Given the description of an element on the screen output the (x, y) to click on. 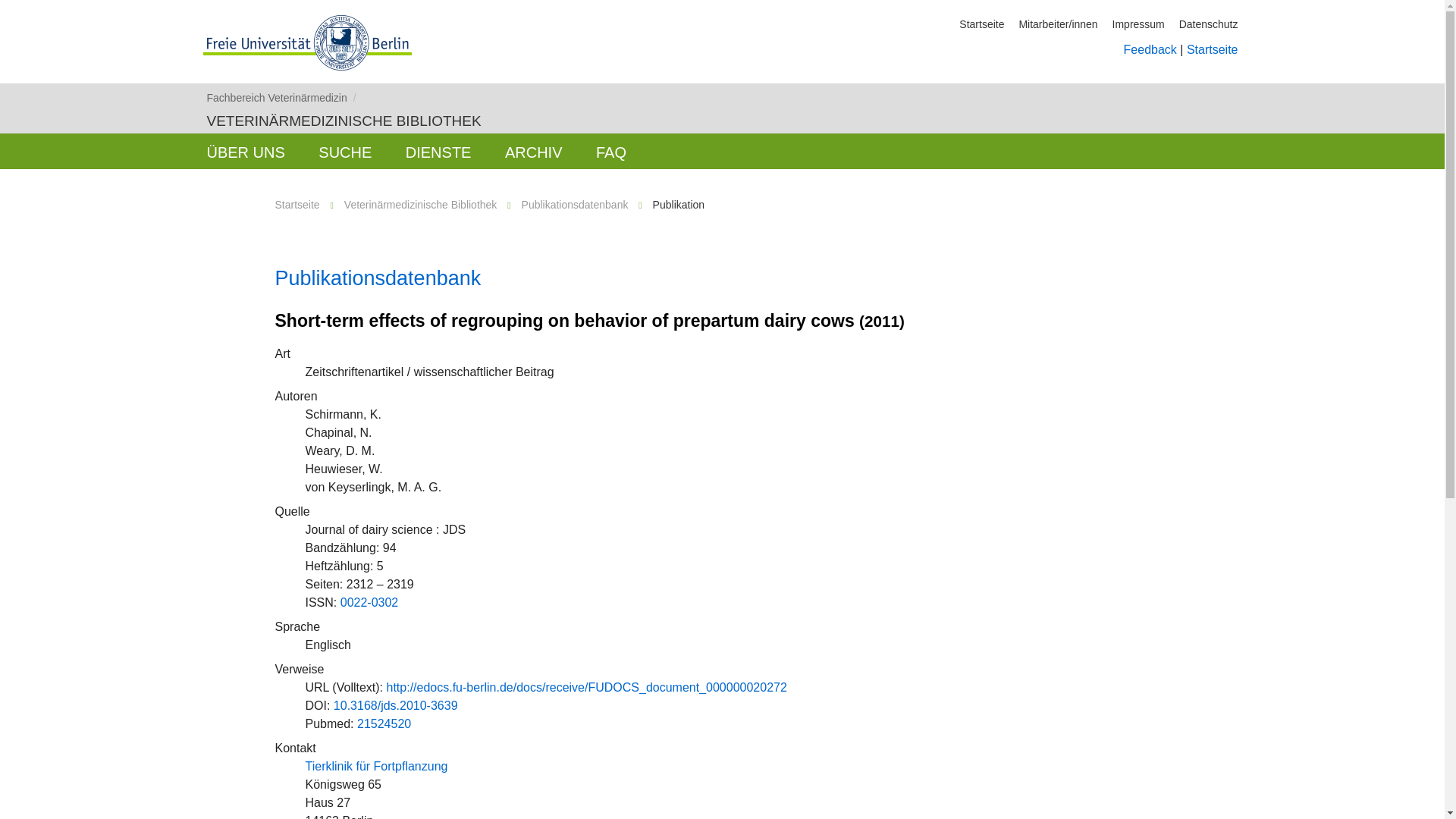
ARCHIV (533, 150)
Publikationsdatenbank (377, 277)
Impressum (1138, 24)
FAQ (611, 150)
Startseite (296, 204)
21524520 (383, 723)
Startseite (1212, 49)
Startseite (981, 24)
0022-0302 (369, 602)
DIENSTE (438, 150)
Publikationsdatenbank (574, 204)
Feedback (1150, 49)
SUCHE (344, 150)
Datenschutz (1209, 24)
